Given the description of an element on the screen output the (x, y) to click on. 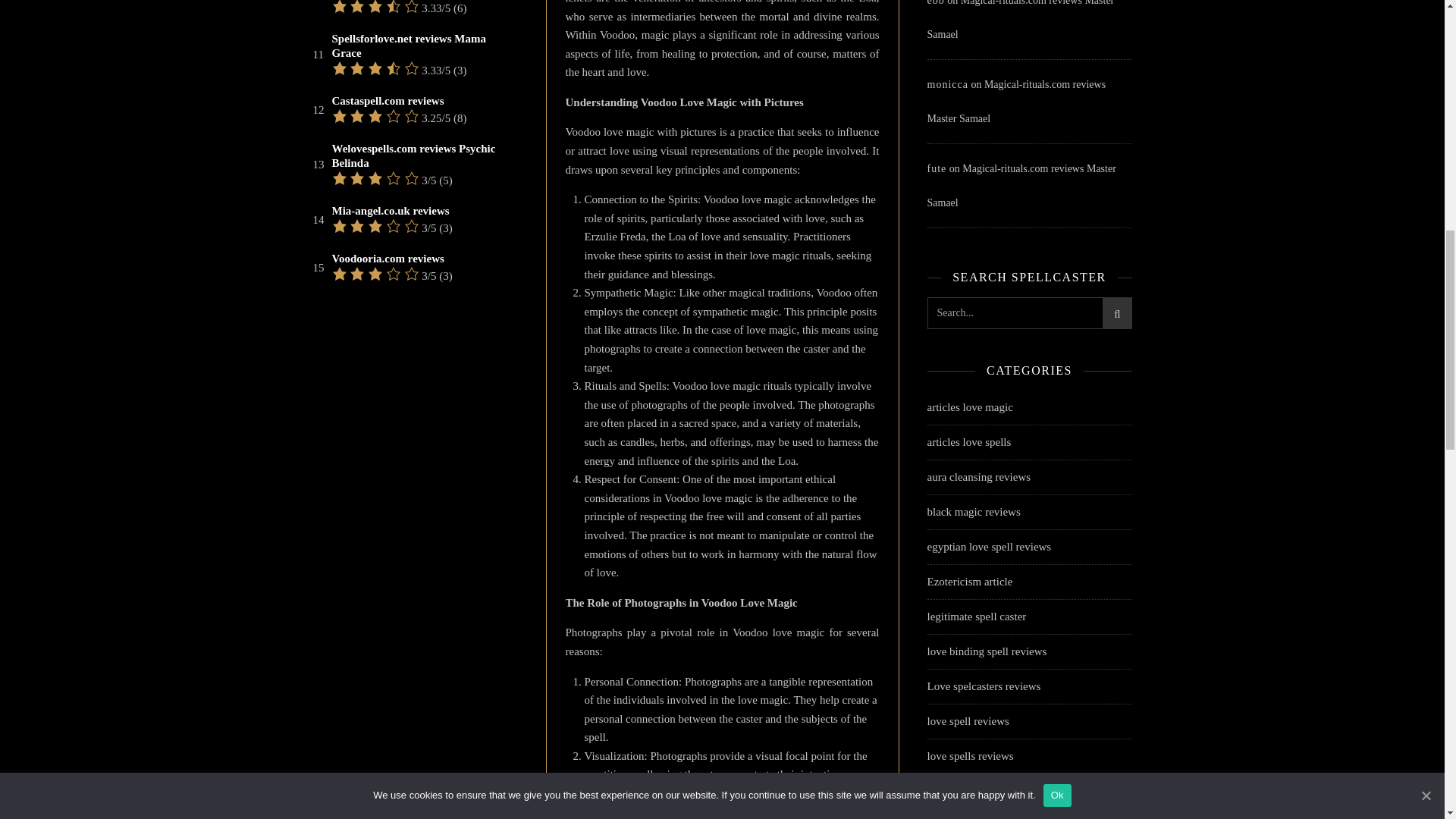
articles love magic (968, 407)
Magical-rituals.com reviews Master Samael (1015, 101)
Magical-rituals.com reviews Master Samael (1019, 20)
Mia-angel.co.uk reviews (390, 210)
Spellsforlove.net reviews Mama Grace (423, 45)
Voodooria.com reviews (387, 258)
Welovespells.com reviews Psychic Belinda (423, 155)
Magical-rituals.com reviews Master Samael (1020, 185)
Castaspell.com reviews (387, 101)
